Given the description of an element on the screen output the (x, y) to click on. 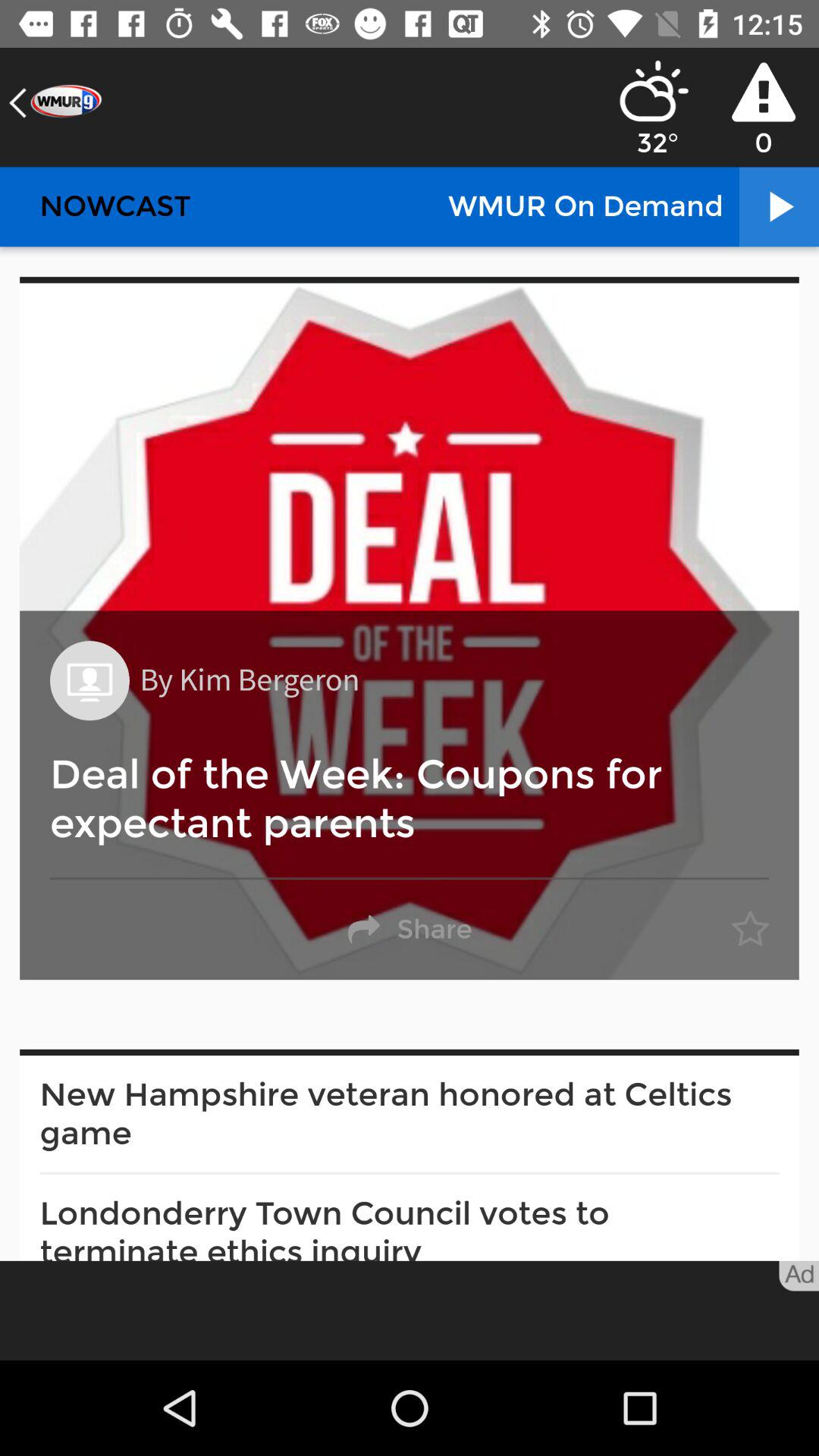
open the by kim bergeron icon (249, 680)
